Given the description of an element on the screen output the (x, y) to click on. 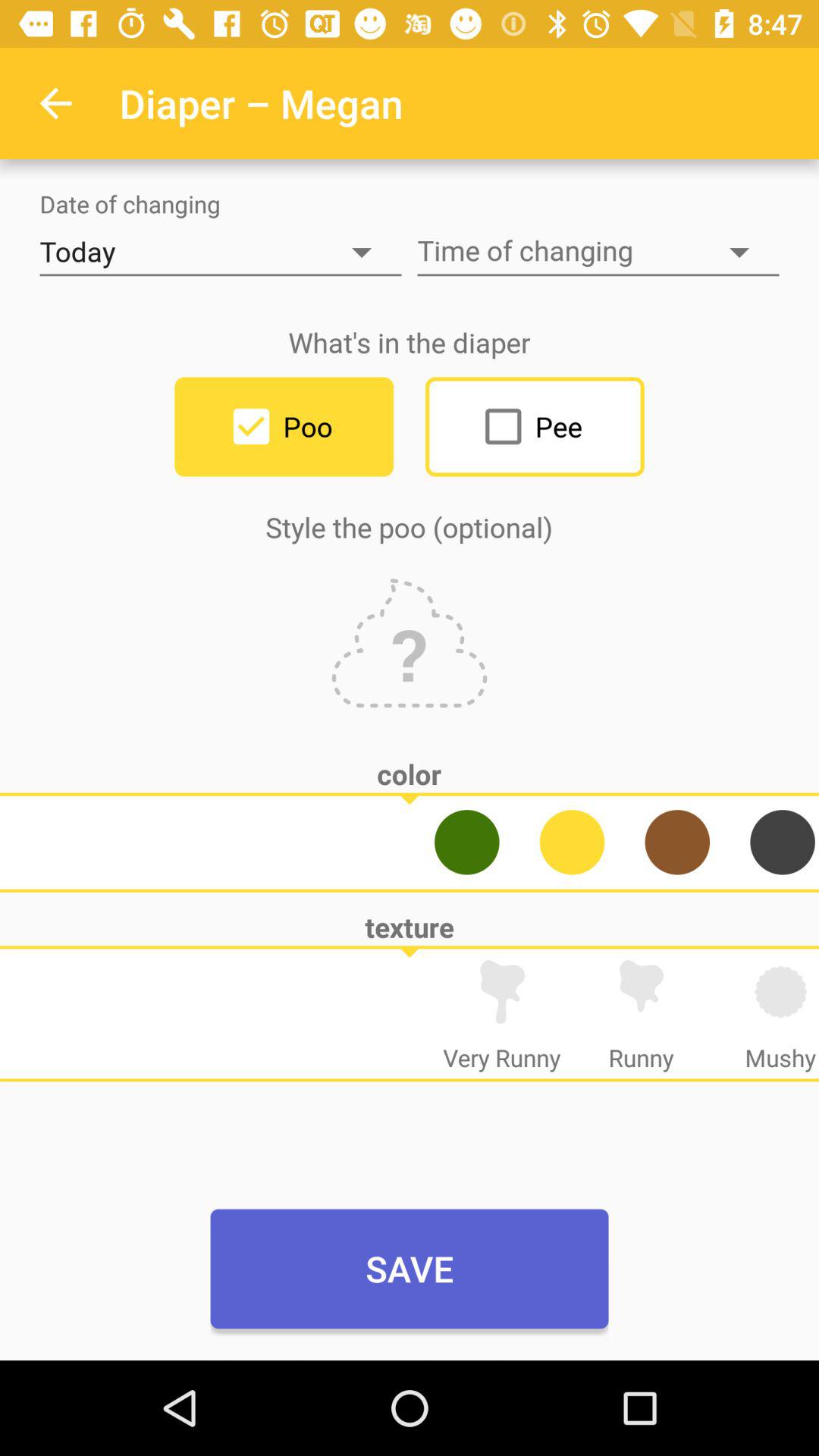
change option (571, 842)
